Given the description of an element on the screen output the (x, y) to click on. 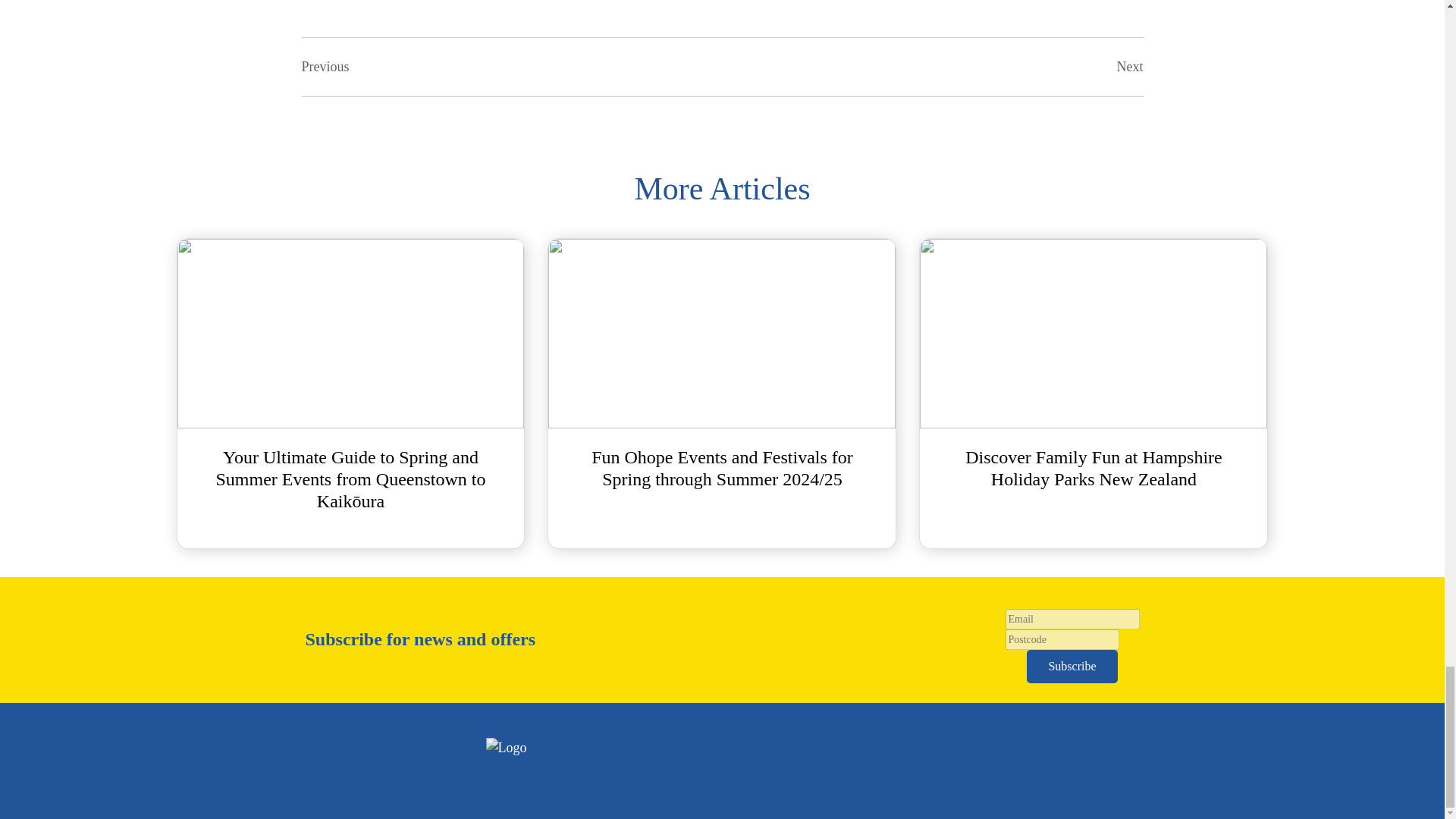
Subscribe (1071, 666)
Next (1129, 66)
Previous (325, 66)
Discover Family Fun at Hampshire Holiday Parks New Zealand (1093, 392)
Subscribe (1071, 666)
